Given the description of an element on the screen output the (x, y) to click on. 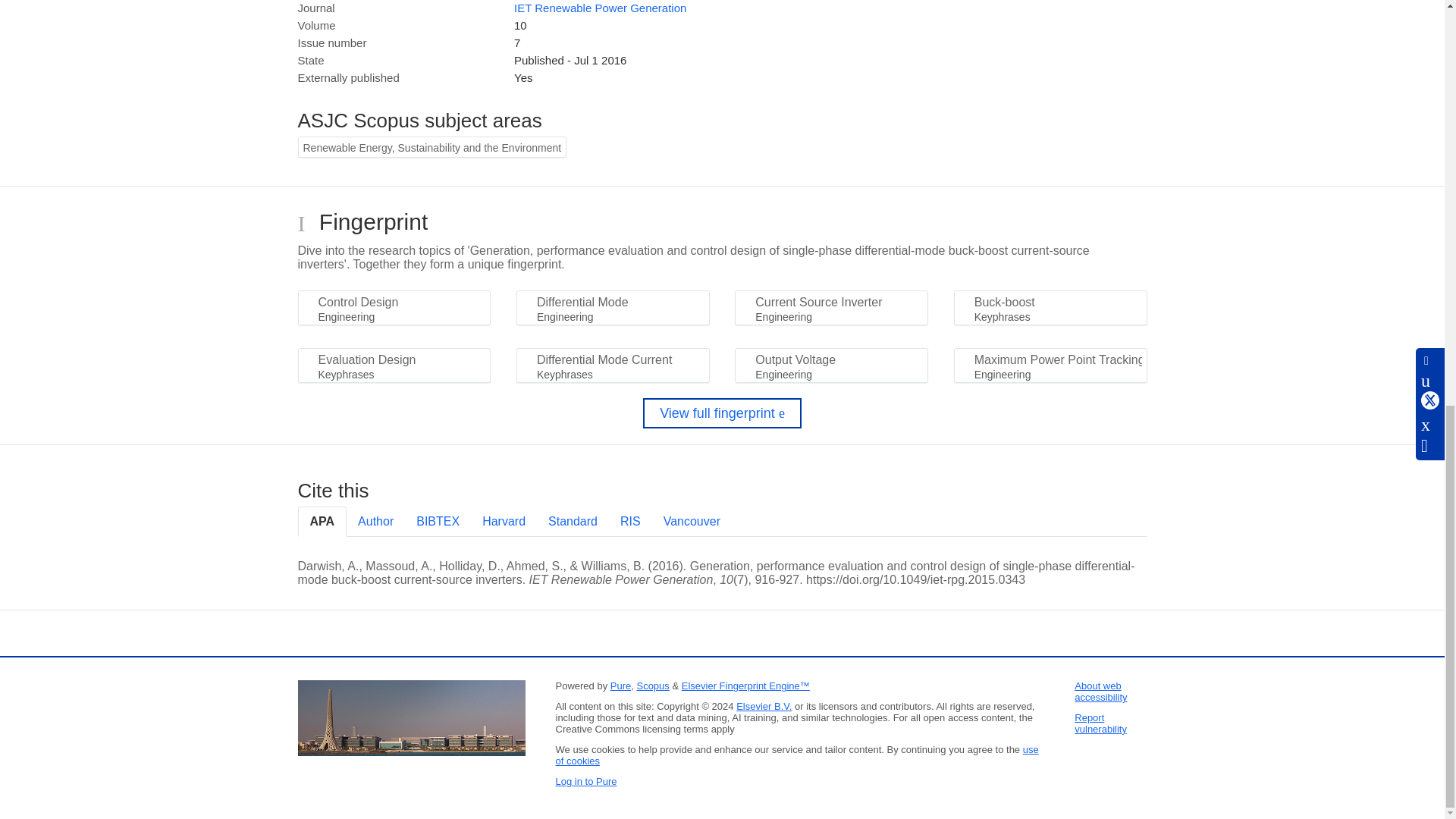
Scopus (652, 685)
View full fingerprint (722, 413)
IET Renewable Power Generation (599, 7)
Pure (620, 685)
